Given the description of an element on the screen output the (x, y) to click on. 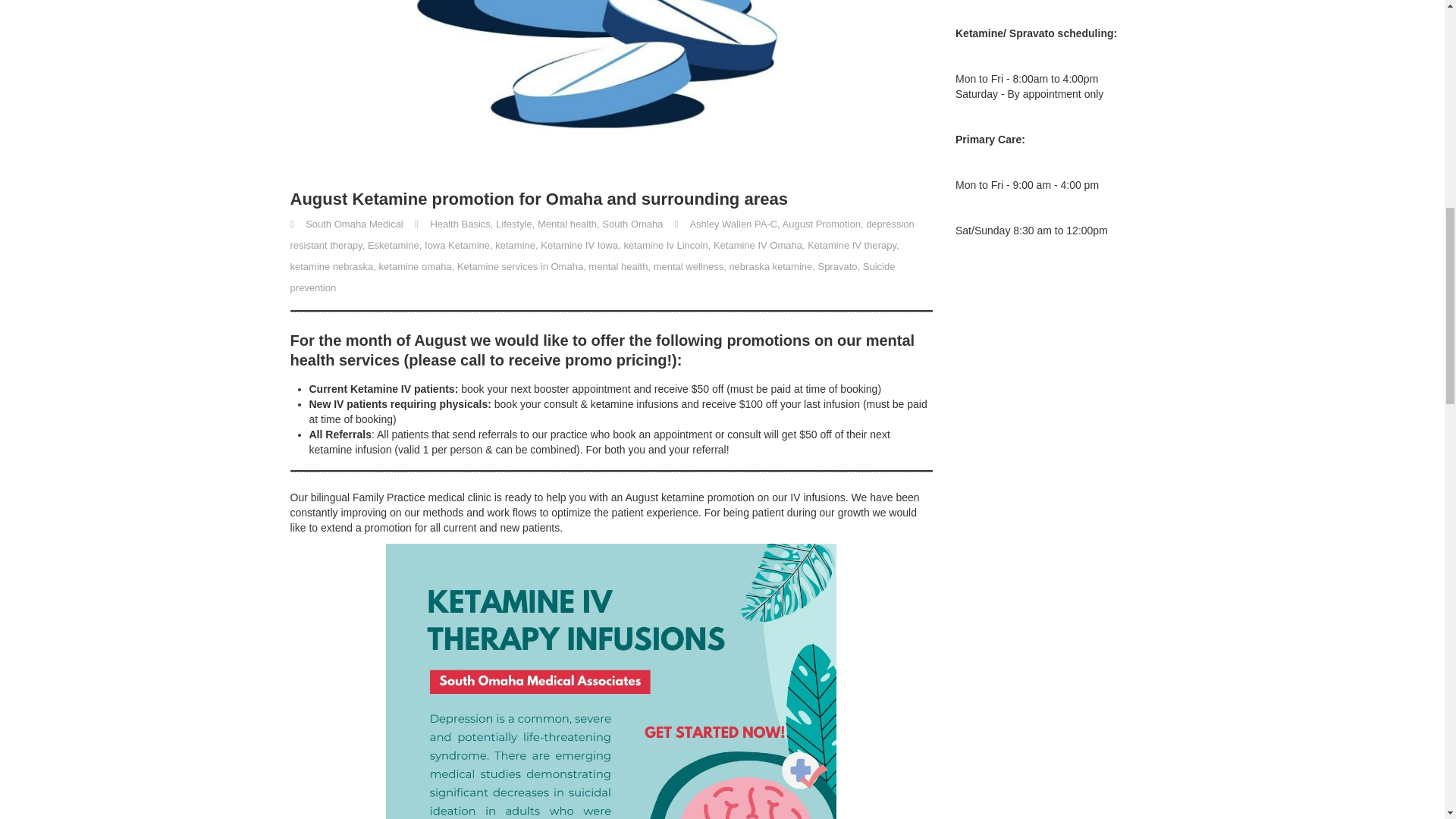
Lifestyle (514, 224)
August Promotion (821, 224)
Ashley Wallen PA-C (732, 224)
Mental health (566, 224)
Ketamine IV Iowa (578, 244)
ketamine (515, 244)
South Omaha (632, 224)
Health Basics (459, 224)
Esketamine (393, 244)
View all posts by South Omaha Medical (354, 224)
depression resistant therapy (601, 234)
Iowa Ketamine (457, 244)
South Omaha Medical (354, 224)
